Given the description of an element on the screen output the (x, y) to click on. 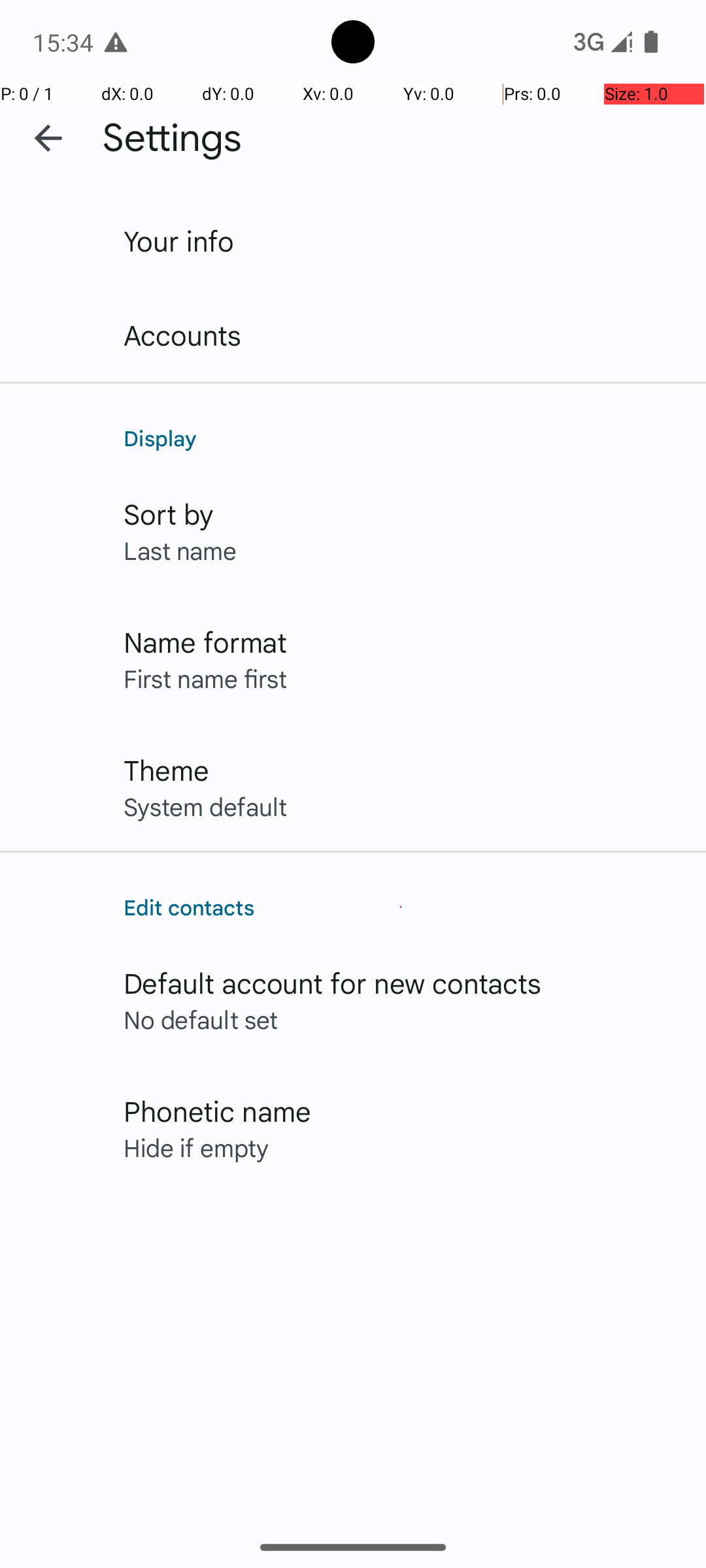
Your info Element type: android.widget.TextView (178, 240)
Accounts Element type: android.widget.TextView (182, 334)
Display Element type: android.widget.TextView (400, 437)
Sort by Element type: android.widget.TextView (168, 513)
Last name Element type: android.widget.TextView (180, 550)
Name format Element type: android.widget.TextView (205, 641)
First name first Element type: android.widget.TextView (204, 678)
Theme Element type: android.widget.TextView (166, 769)
System default Element type: android.widget.TextView (204, 806)
Edit contacts Element type: android.widget.TextView (400, 906)
Default account for new contacts Element type: android.widget.TextView (332, 982)
No default set Element type: android.widget.TextView (200, 1019)
Phonetic name Element type: android.widget.TextView (217, 1110)
Hide if empty Element type: android.widget.TextView (196, 1147)
